Given the description of an element on the screen output the (x, y) to click on. 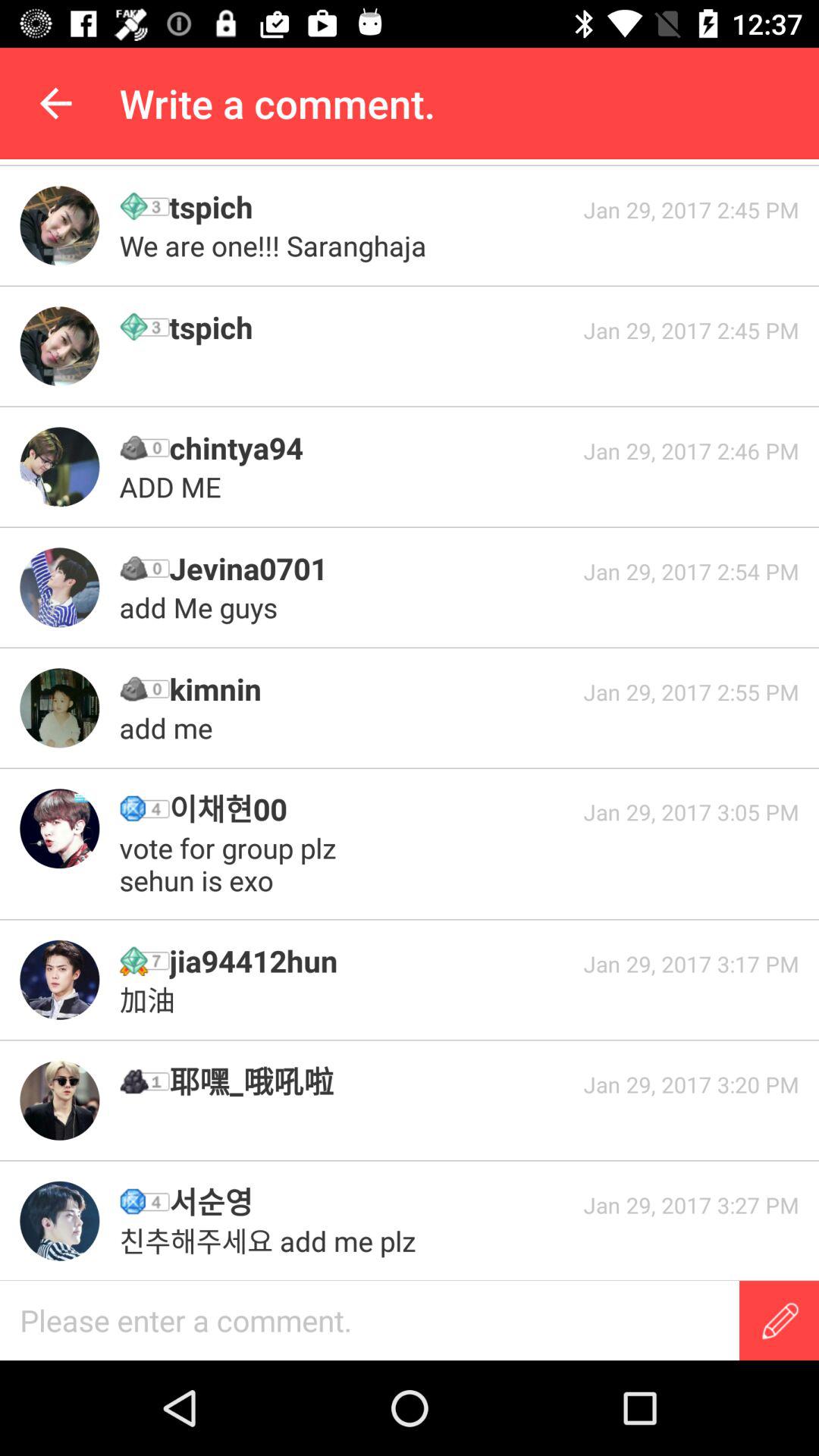
write message (779, 1320)
